Given the description of an element on the screen output the (x, y) to click on. 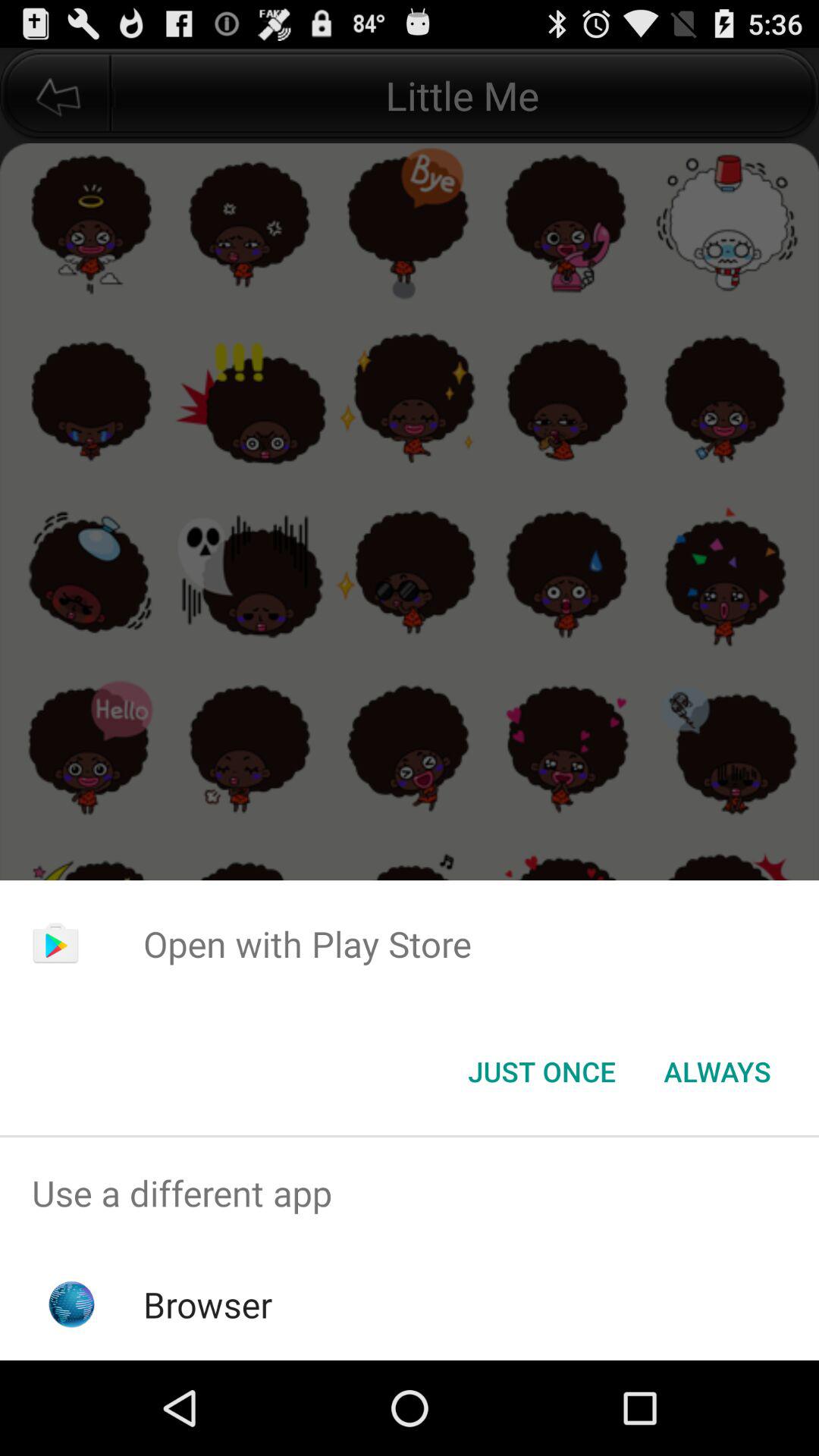
open the always item (717, 1071)
